Given the description of an element on the screen output the (x, y) to click on. 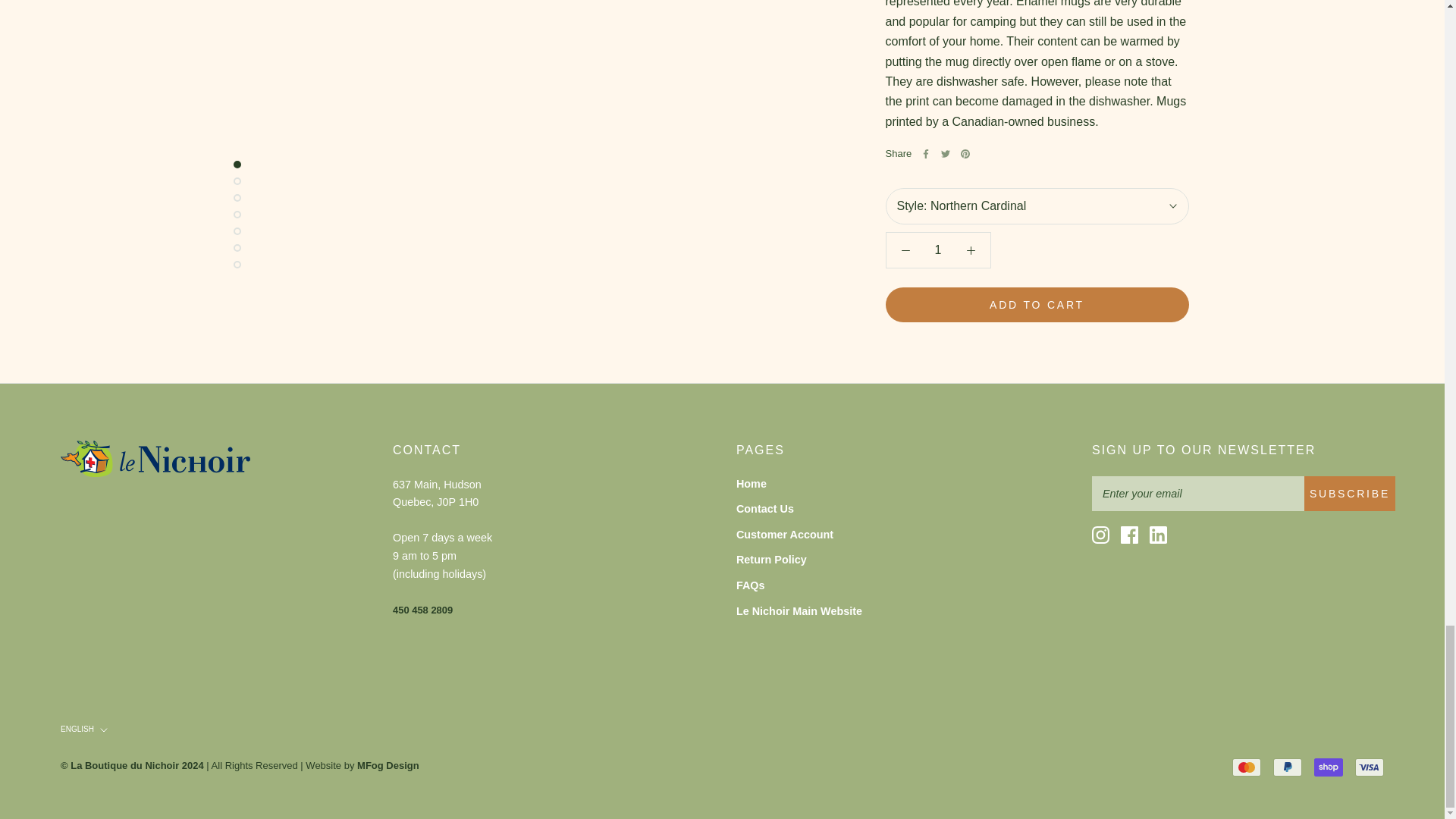
Shop Pay (1328, 767)
tel:450 458 2809 (422, 609)
Mastercard (1245, 767)
Visa (1369, 767)
PayPal (1286, 767)
